Given the description of an element on the screen output the (x, y) to click on. 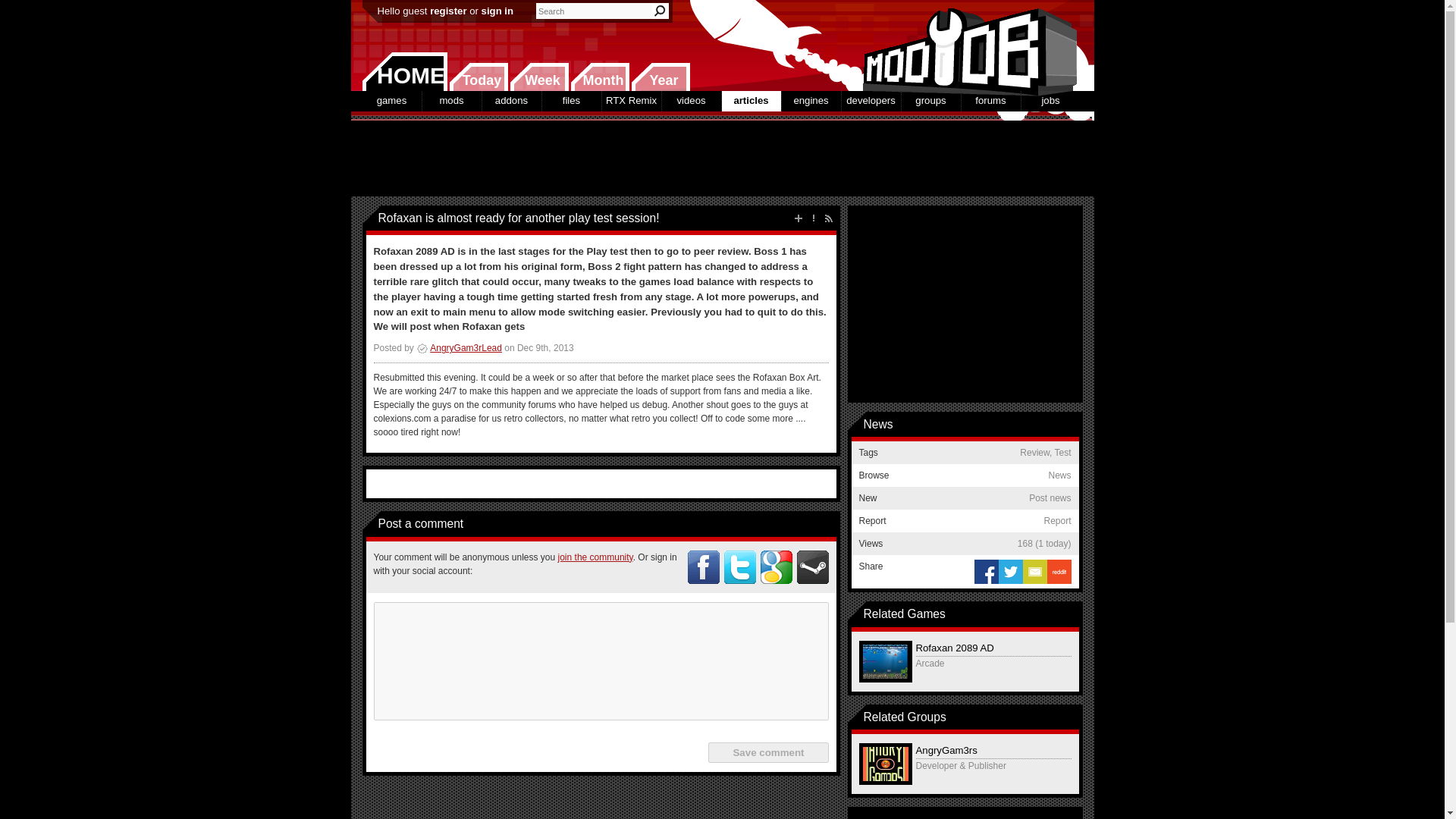
Report (813, 218)
Click to connect via Twitter (739, 566)
Week (539, 76)
Month (599, 76)
New this month (599, 76)
New today (478, 76)
Save comment (767, 752)
games (392, 100)
register (447, 10)
Today (478, 76)
New this year (660, 76)
RSS (828, 218)
HOME (405, 71)
New this week (539, 76)
Post news (797, 218)
